Given the description of an element on the screen output the (x, y) to click on. 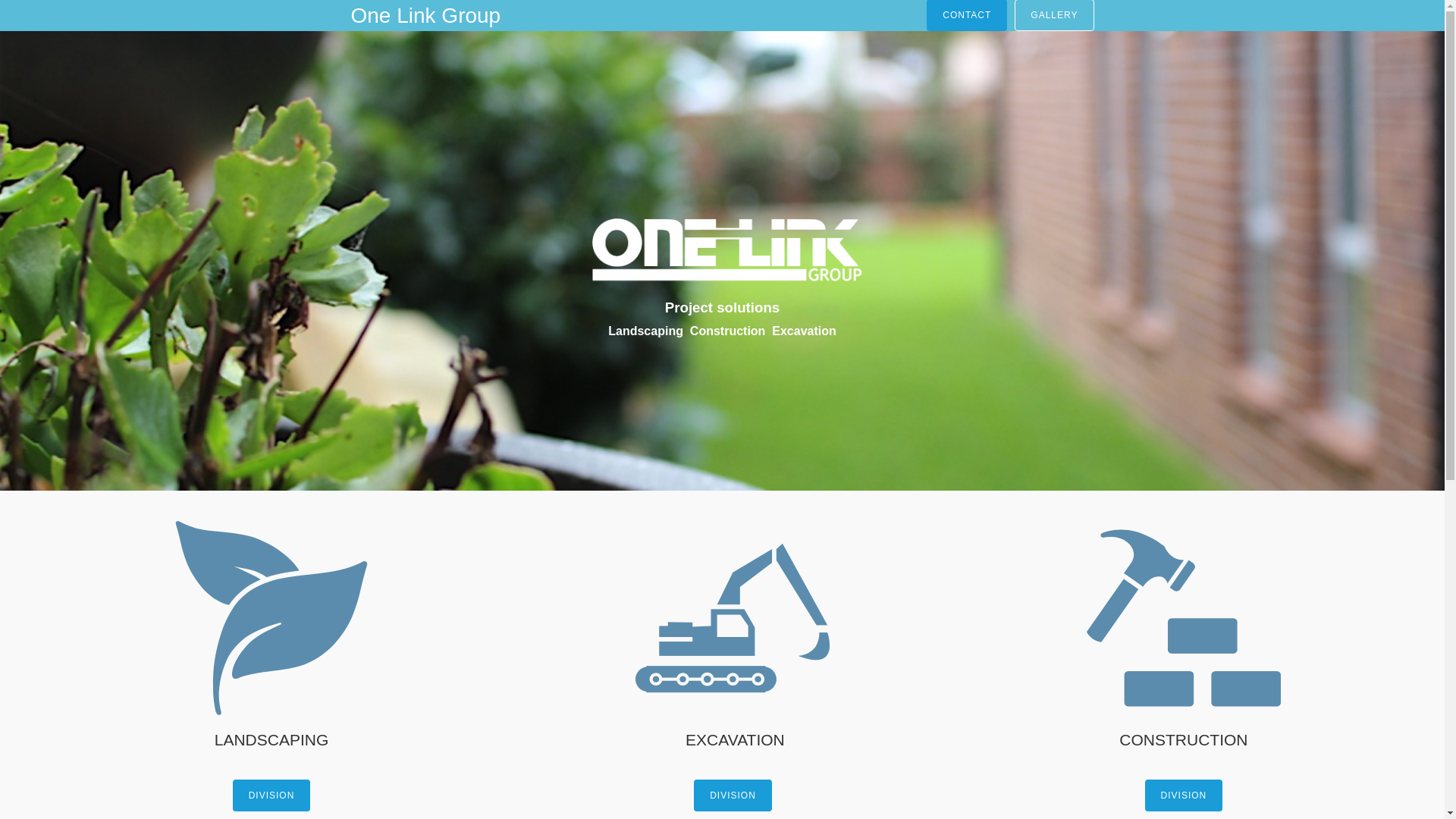
Excavation Element type: text (803, 330)
One Link Group Element type: text (425, 15)
hammer261 Element type: hover (1183, 617)
DIVISION Element type: text (271, 795)
herbal1-23 Element type: hover (271, 617)
construction17 Element type: hover (732, 617)
DIVISION Element type: text (732, 795)
DIVISION Element type: text (1184, 795)
Landscaping Element type: text (645, 330)
  Element type: text (722, 272)
